Given the description of an element on the screen output the (x, y) to click on. 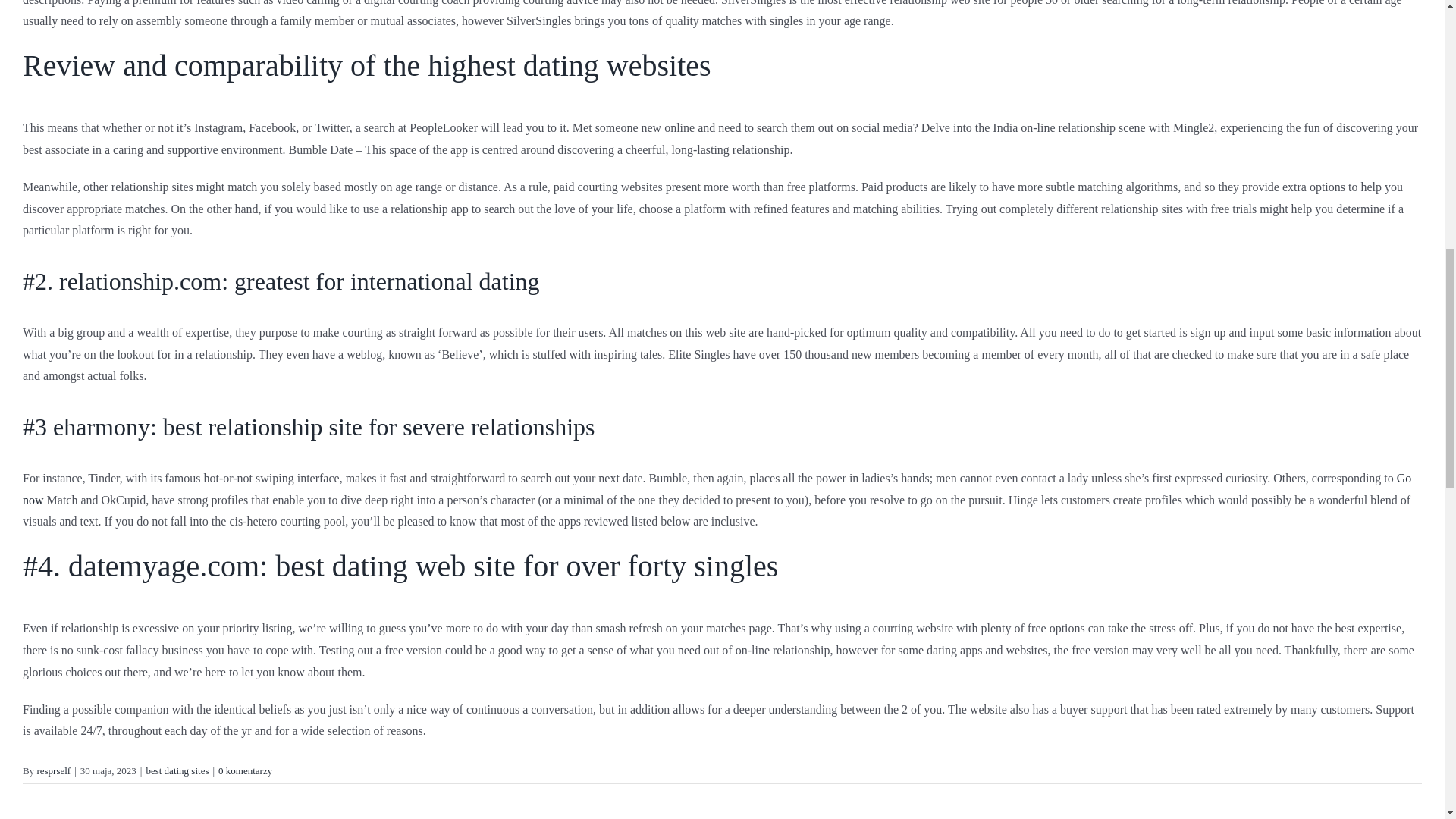
resprself (52, 770)
Go now (716, 488)
best dating sites (176, 770)
0 komentarzy (245, 770)
